Given the description of an element on the screen output the (x, y) to click on. 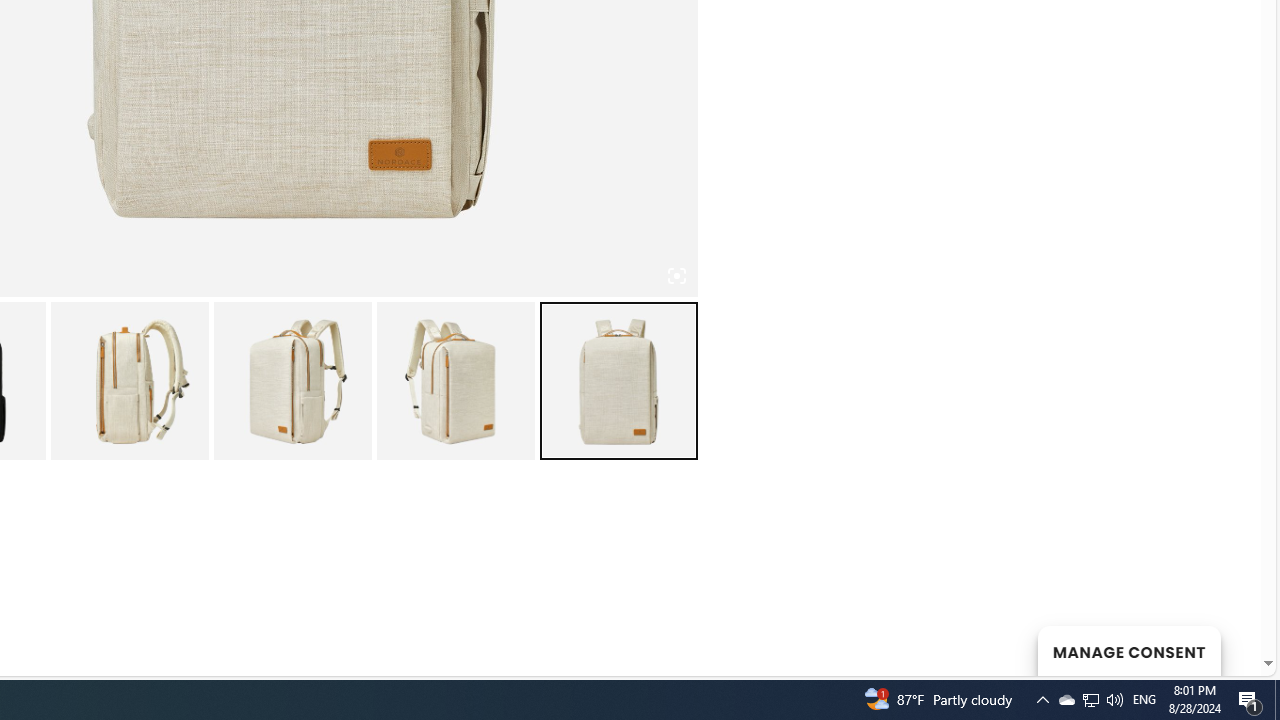
Nordace Siena Pro 17 Backpack (128, 380)
Class: iconic-woothumbs-fullscreen (676, 276)
MANAGE CONSENT (1128, 650)
